Given the description of an element on the screen output the (x, y) to click on. 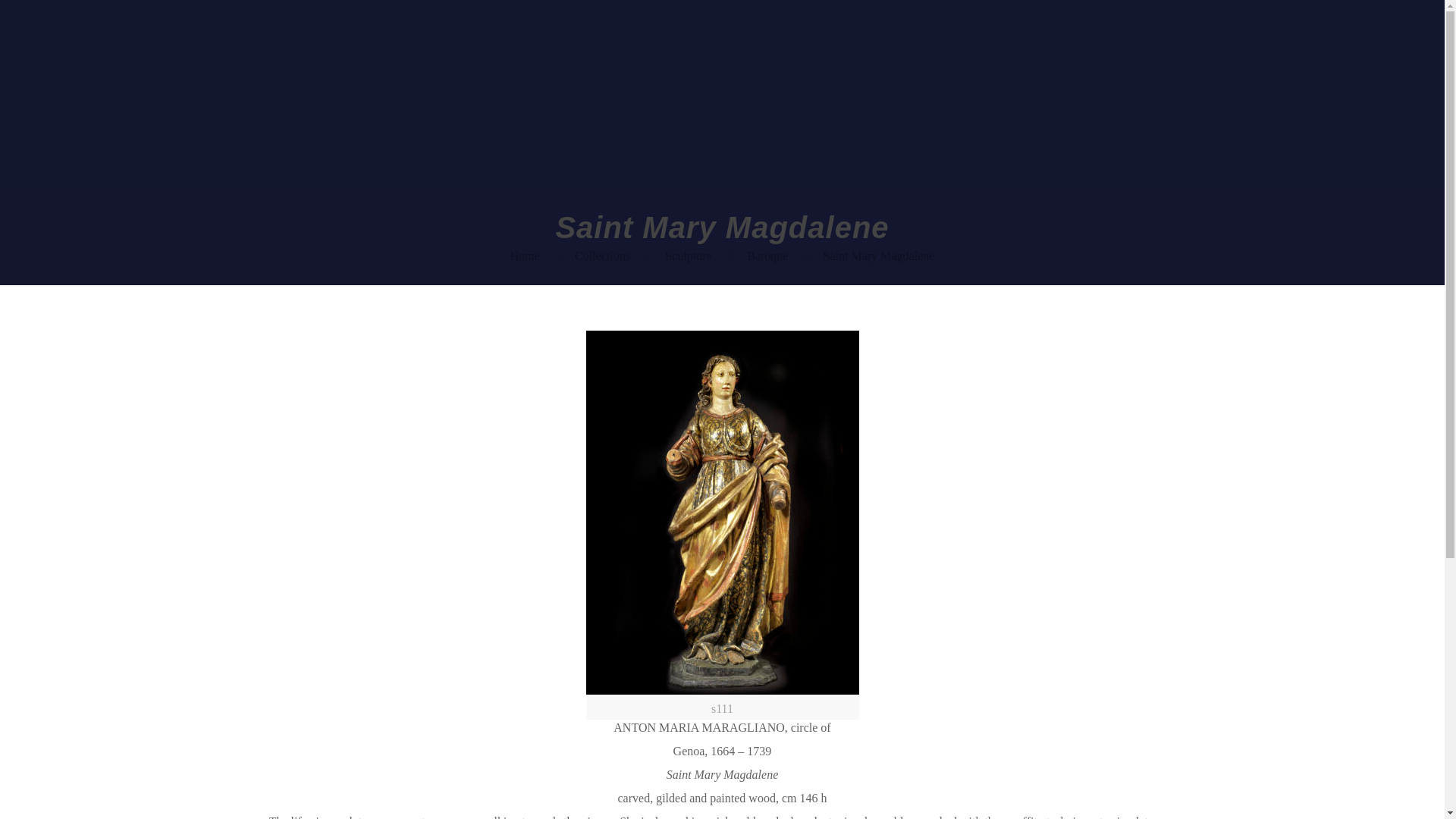
Home (525, 255)
Privacy Policy  (303, 748)
Cookie Policy  (374, 748)
Sculpture (688, 255)
Collections (602, 255)
